Given the description of an element on the screen output the (x, y) to click on. 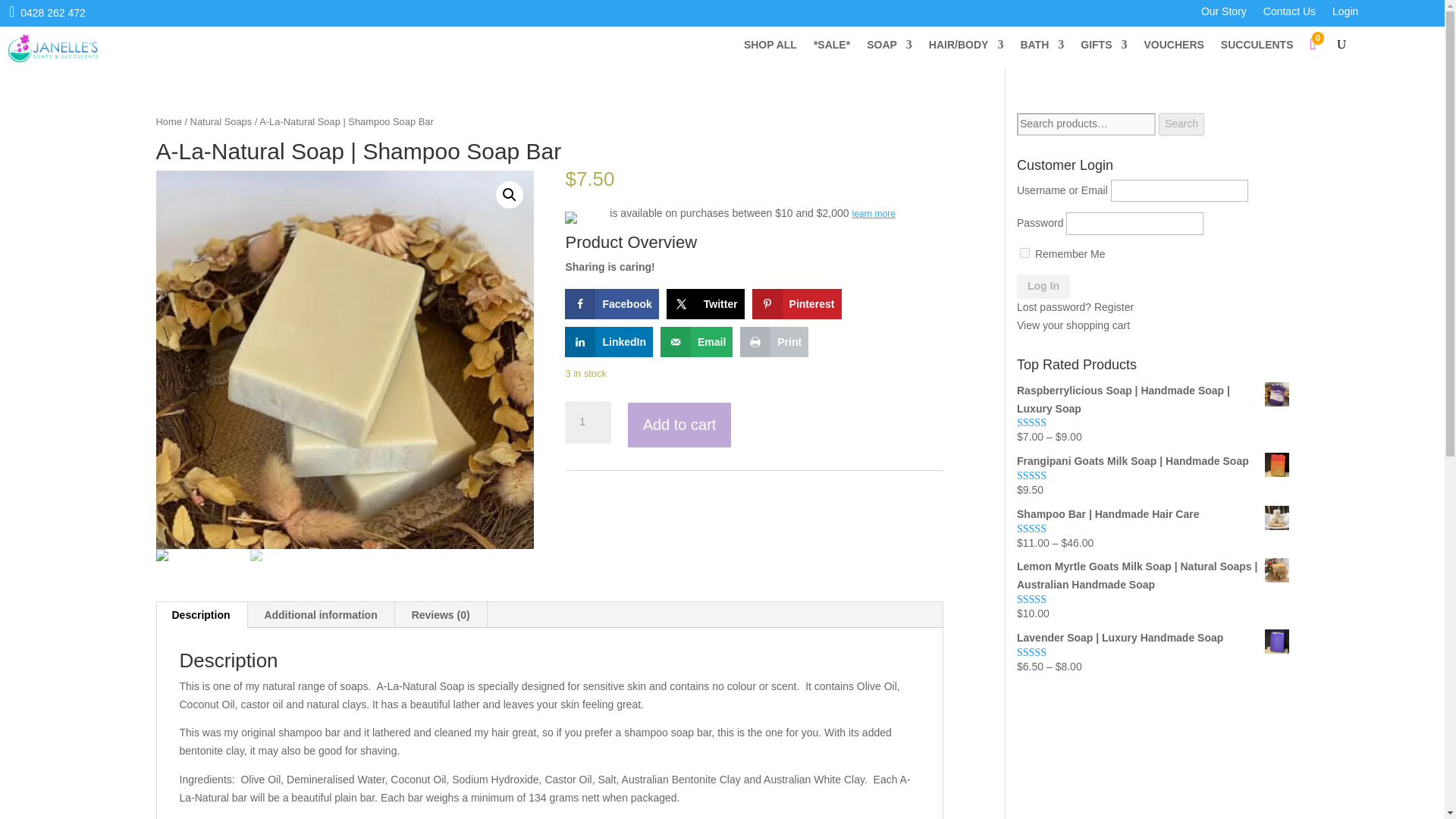
1 (587, 422)
janelles-soaps-and-succulents (53, 48)
Print this webpage (773, 341)
Login (1345, 13)
Share on X (705, 304)
SHOP ALL (770, 47)
Send over email (696, 341)
GIFTS (1103, 47)
Our Story (1223, 13)
Share on Facebook (611, 304)
Share on LinkedIn (608, 341)
SOAP (889, 47)
Save to Pinterest (796, 304)
Register (1114, 306)
